Given the description of an element on the screen output the (x, y) to click on. 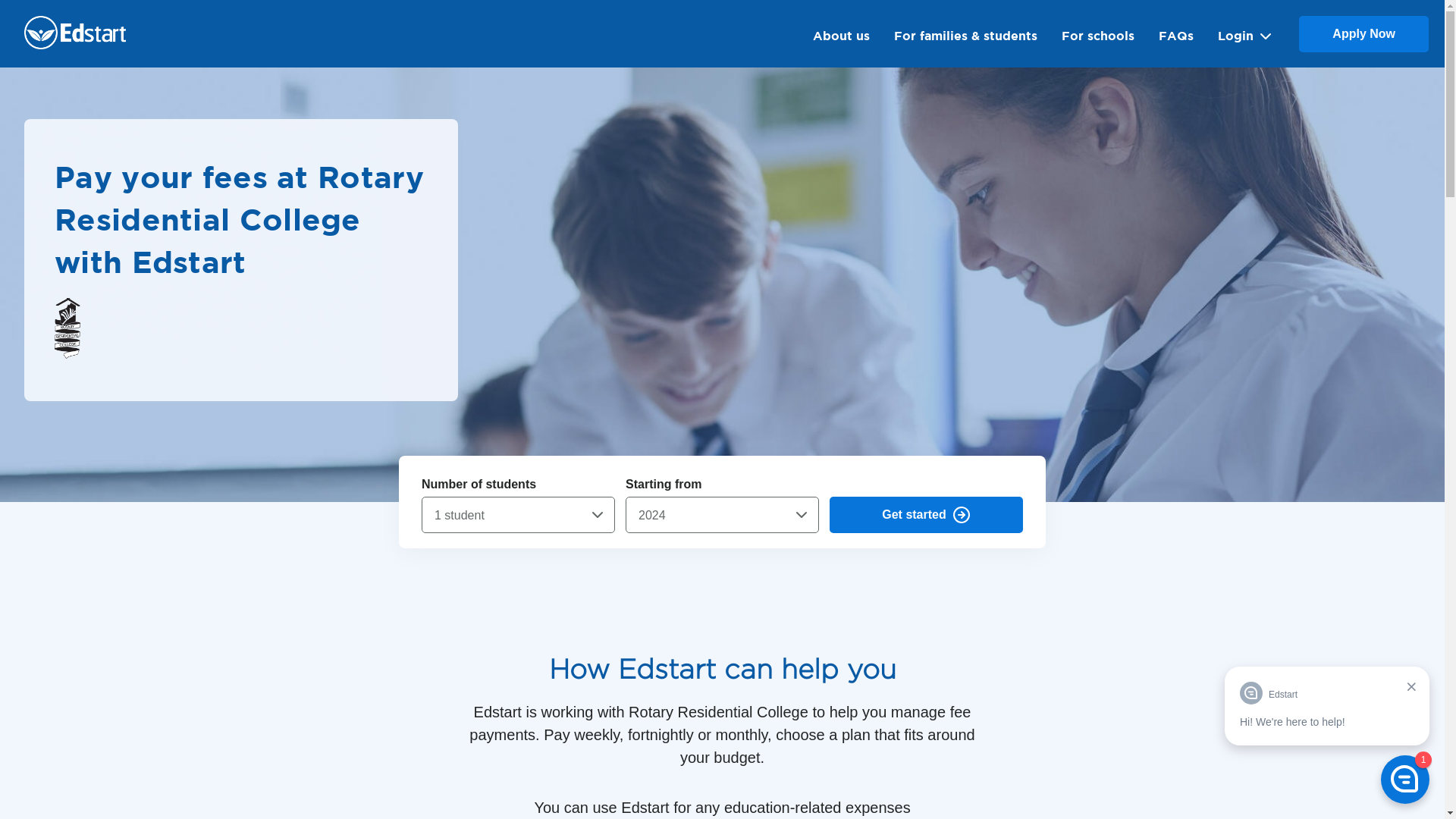
Front Chat Element type: hover (1326, 737)
Login Element type: text (1245, 33)
About us Element type: text (840, 33)
Get started Element type: text (925, 514)
For families & students Element type: text (965, 33)
FAQs Element type: text (1175, 33)
Apply Now Element type: text (1363, 33)
For schools Element type: text (1097, 33)
